Given the description of an element on the screen output the (x, y) to click on. 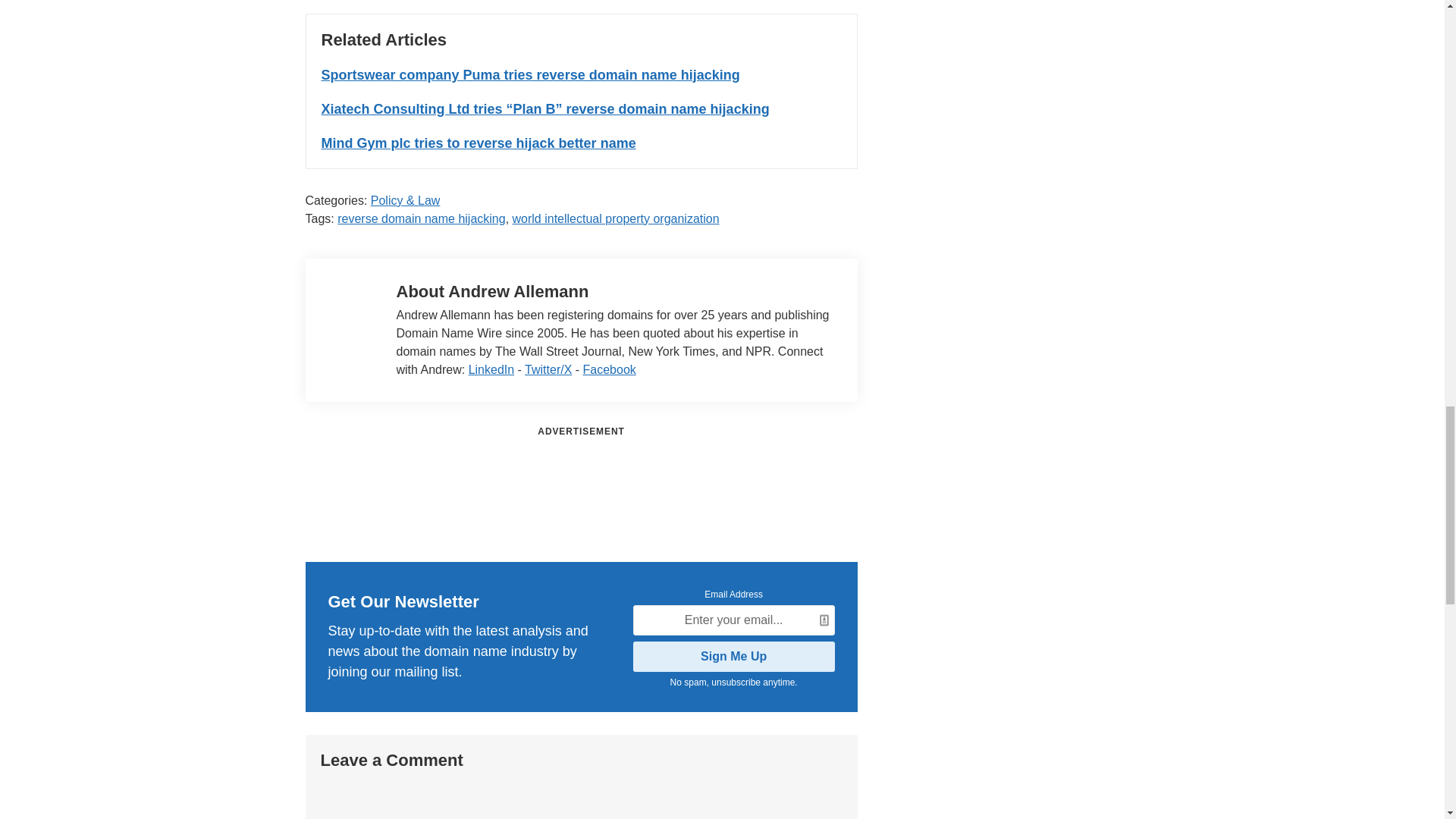
Sign Me Up (733, 656)
Comment Form (580, 799)
Sportswear company Puma tries reverse domain name hijacking (530, 74)
Mind Gym plc tries to reverse hijack better name (478, 142)
